Given the description of an element on the screen output the (x, y) to click on. 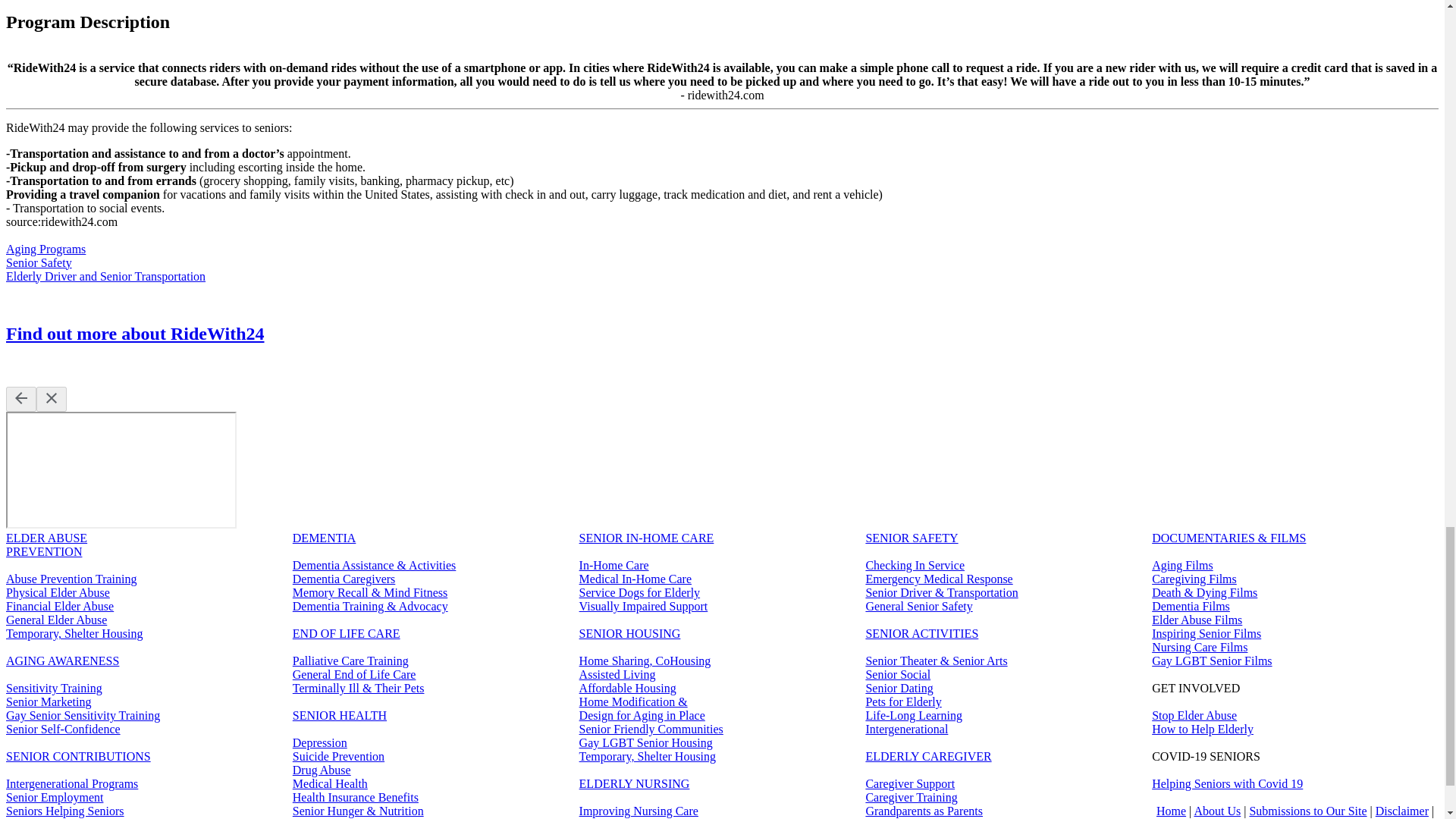
Aging Programs (45, 248)
